Given the description of an element on the screen output the (x, y) to click on. 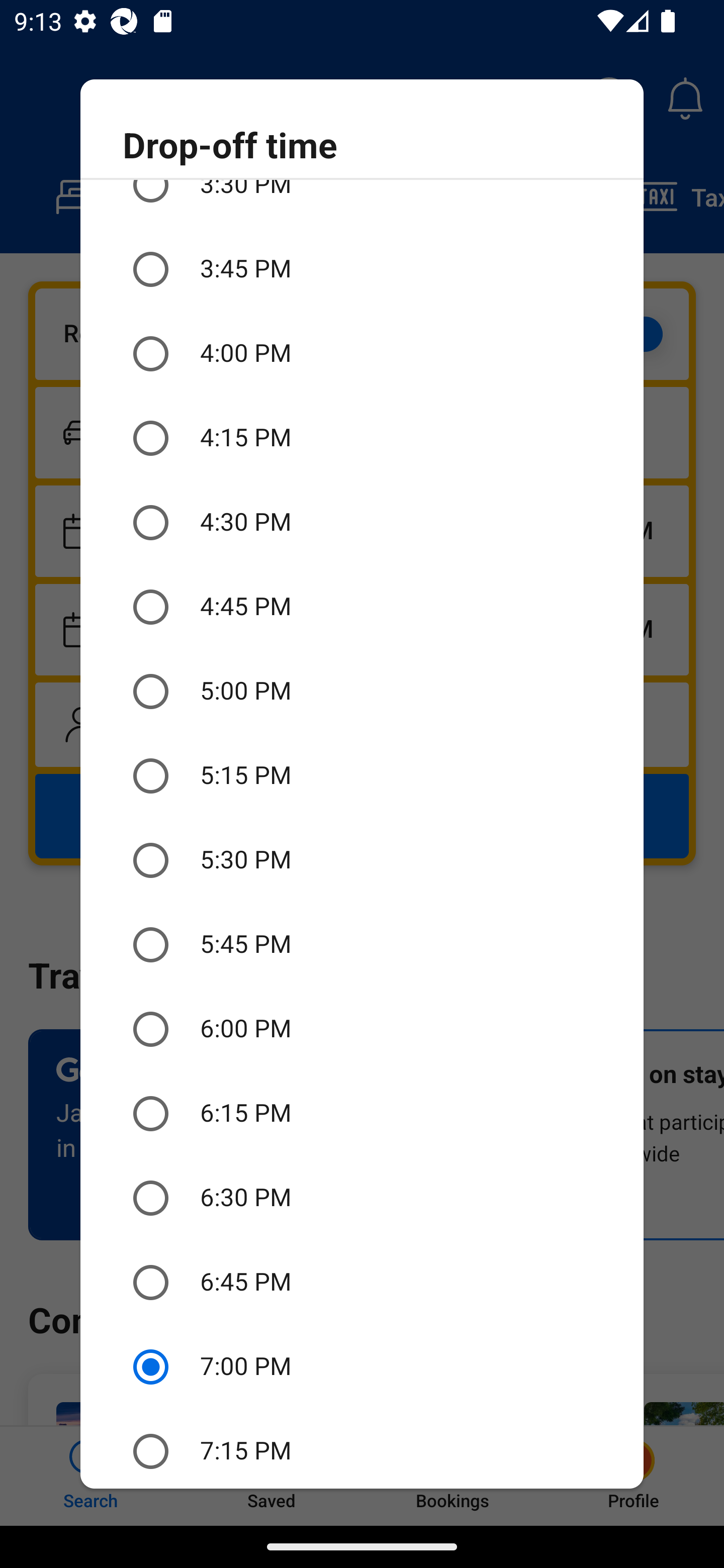
3:45 PM (361, 269)
4:00 PM (361, 354)
4:15 PM (361, 437)
4:30 PM (361, 521)
4:45 PM (361, 606)
5:00 PM (361, 691)
5:15 PM (361, 775)
5:30 PM (361, 860)
5:45 PM (361, 944)
6:00 PM (361, 1028)
6:15 PM (361, 1112)
6:30 PM (361, 1197)
6:45 PM (361, 1282)
7:00 PM (361, 1366)
7:15 PM (361, 1448)
